Given the description of an element on the screen output the (x, y) to click on. 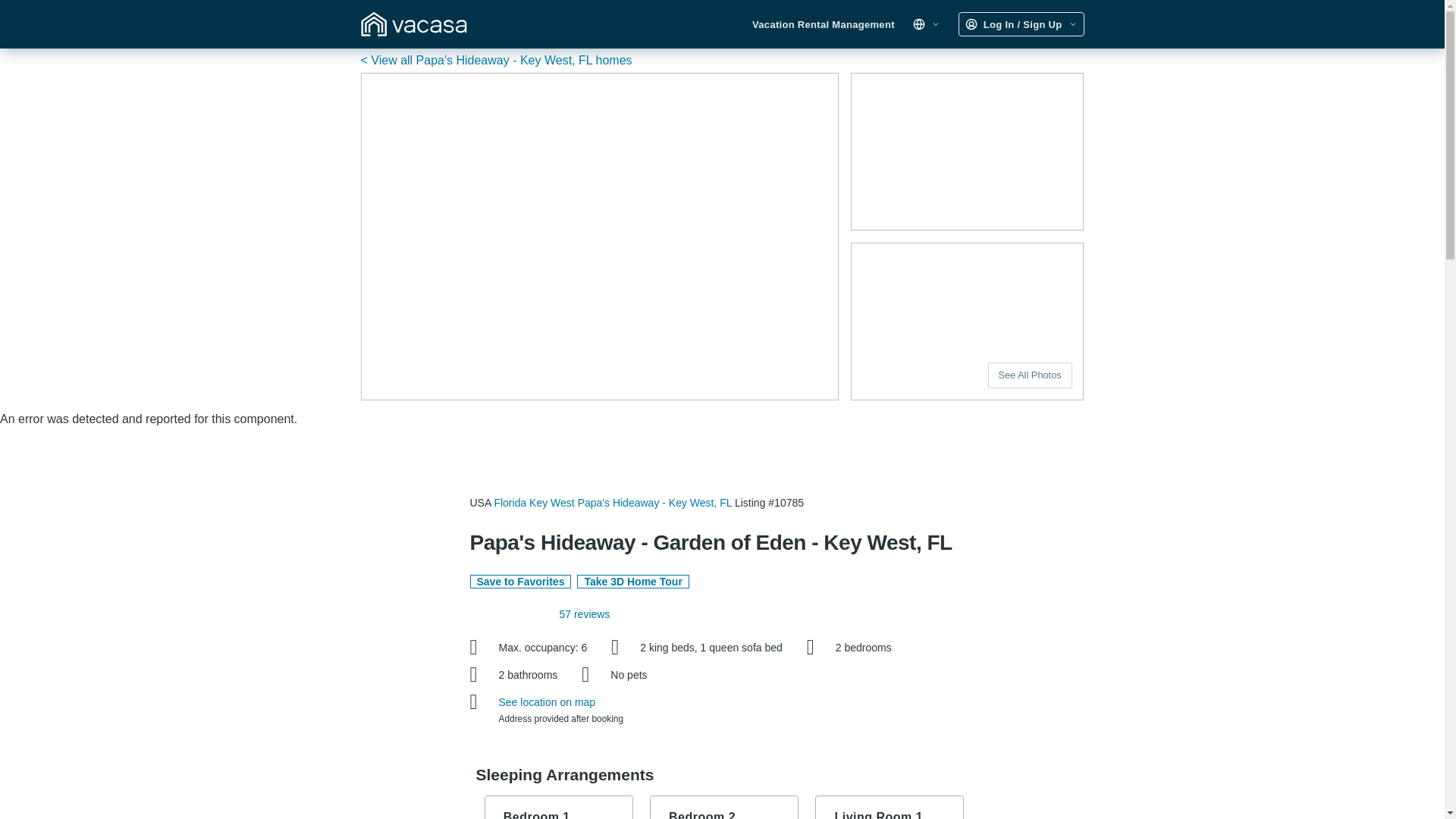
See All Photos (1029, 375)
Take 3D Home Tour (632, 581)
See location on map (547, 702)
Florida (509, 502)
Key West (552, 502)
Papa's Hideaway - Key West, FL (655, 502)
Save to Favorites (521, 581)
Vacation Rental Management (823, 24)
57 reviews (584, 613)
Click to add this home to your Favorites (521, 581)
